Given the description of an element on the screen output the (x, y) to click on. 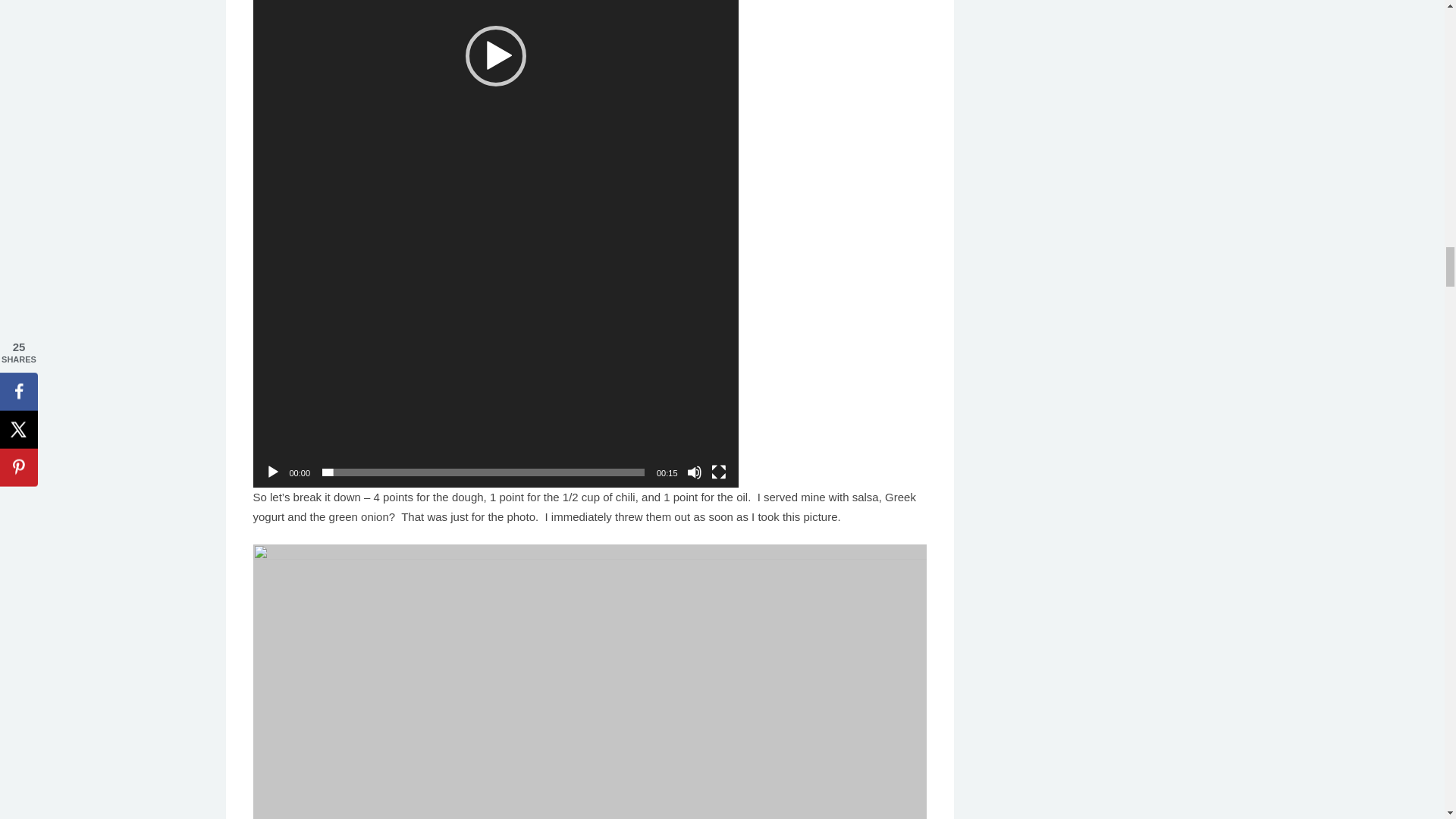
Mute (694, 472)
Play (272, 472)
Fullscreen (718, 472)
